Given the description of an element on the screen output the (x, y) to click on. 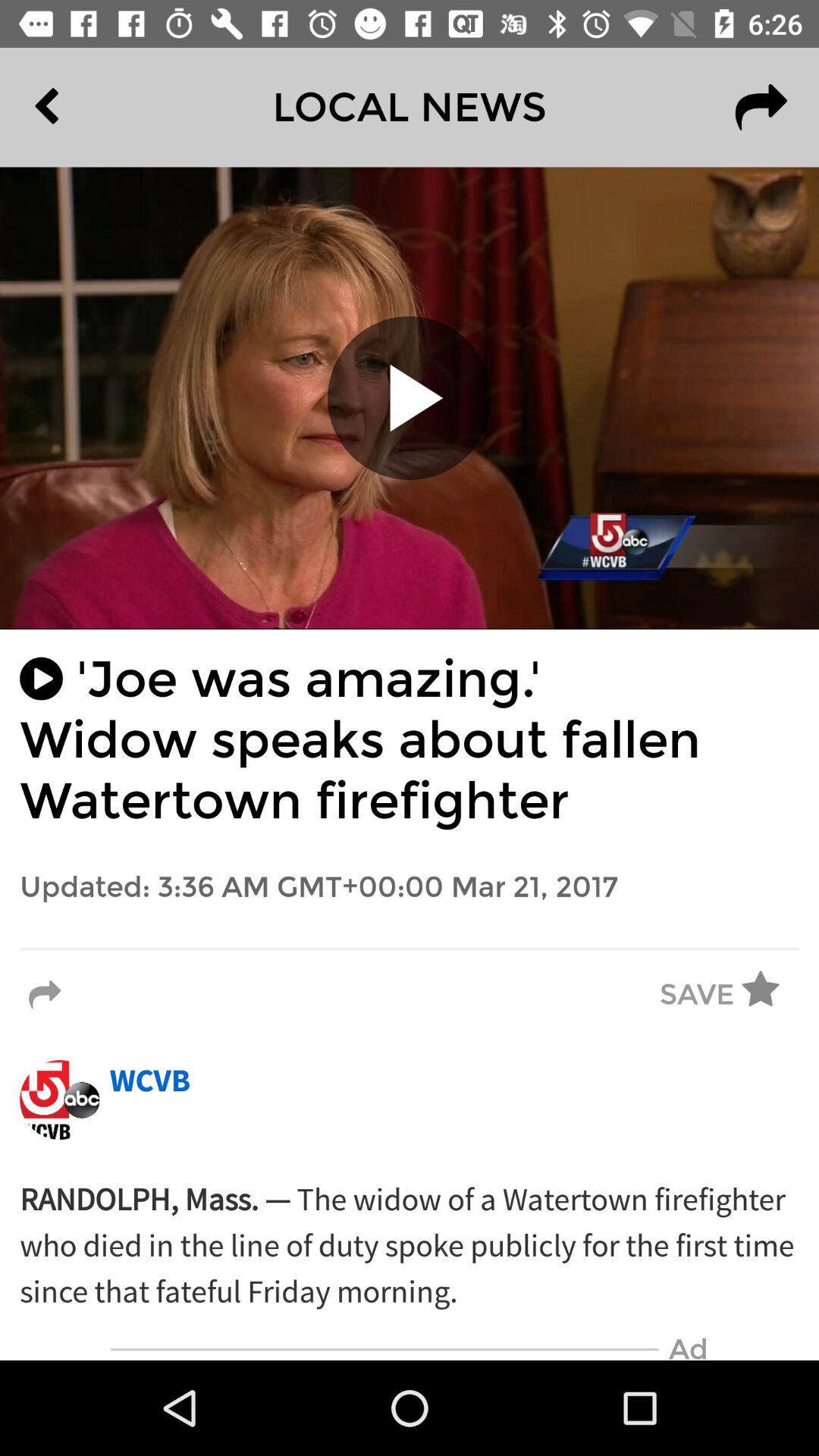
tap the joe was amazing item (409, 739)
